Given the description of an element on the screen output the (x, y) to click on. 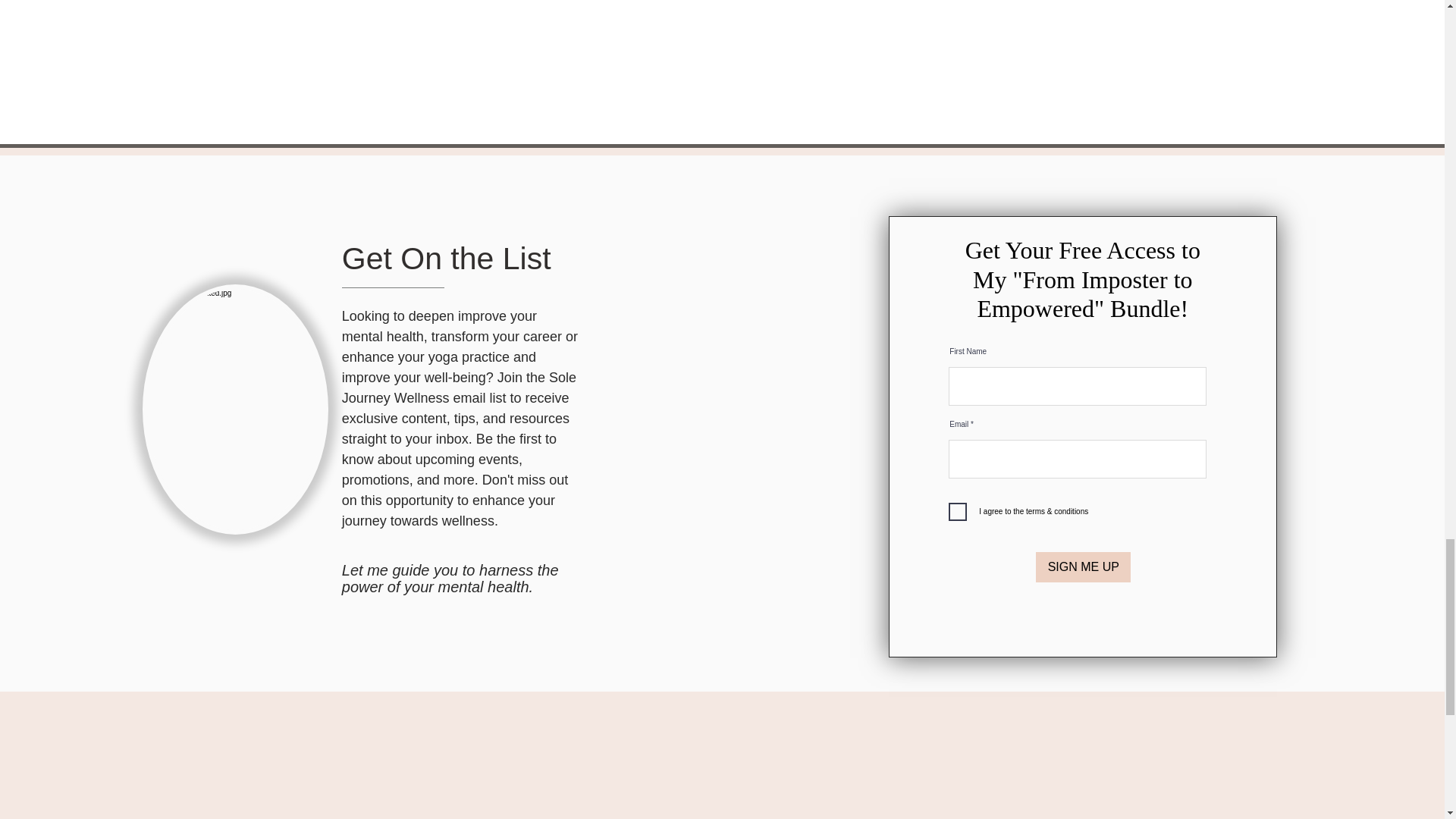
SIGN ME UP (1083, 567)
